Given the description of an element on the screen output the (x, y) to click on. 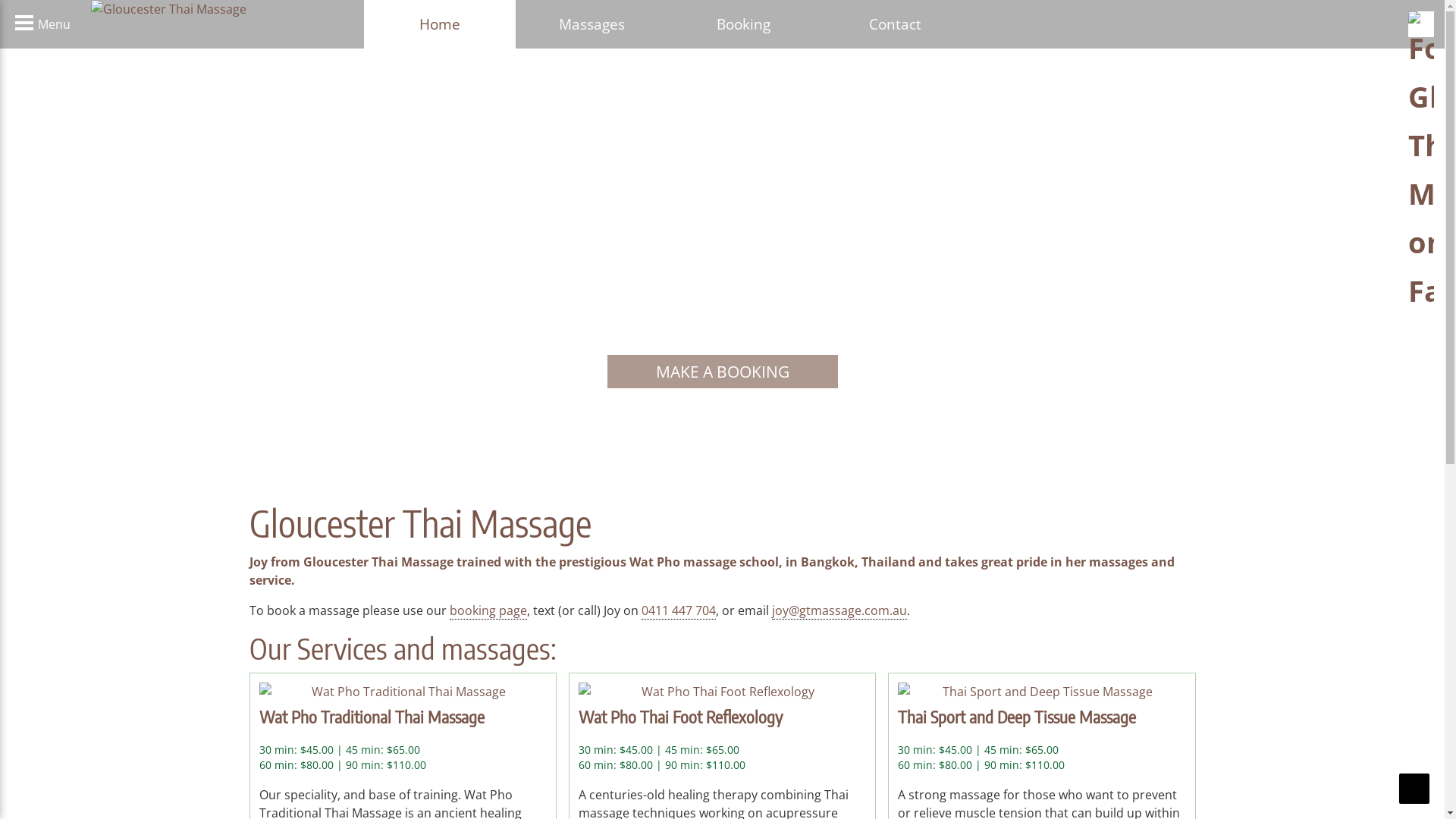
Contact Element type: text (894, 24)
Booking Element type: text (743, 24)
Wat Pho Traditional Thai Massage Element type: text (371, 716)
Return to the homepage | Gloucester Thai Massage Element type: hover (227, 9)
Wat Pho Thai Foot Reflexology Element type: text (680, 716)
Follow Gloucester Thai Massage on Facebook Element type: hover (1421, 24)
Follow Gloucester Thai Massage on Facebook Element type: hover (1421, 162)
joy@gtmassage.com.au Element type: text (838, 610)
Scroll To Top Element type: text (1414, 788)
Wat Pho Thai Foot Reflexology Element type: hover (722, 691)
booking page Element type: text (487, 610)
Gloucester Thai Massage Element type: hover (212, 9)
Thai Sport and Deep Tissue Massage Element type: hover (1041, 691)
Home Element type: text (439, 24)
Thai Sport and Deep Tissue Massage Element type: text (1016, 716)
Massages Element type: text (591, 24)
MAKE A BOOKING Element type: text (721, 371)
Wat Pho Traditional Thai Massage Element type: hover (402, 691)
0411 447 704 Element type: text (678, 610)
